Given the description of an element on the screen output the (x, y) to click on. 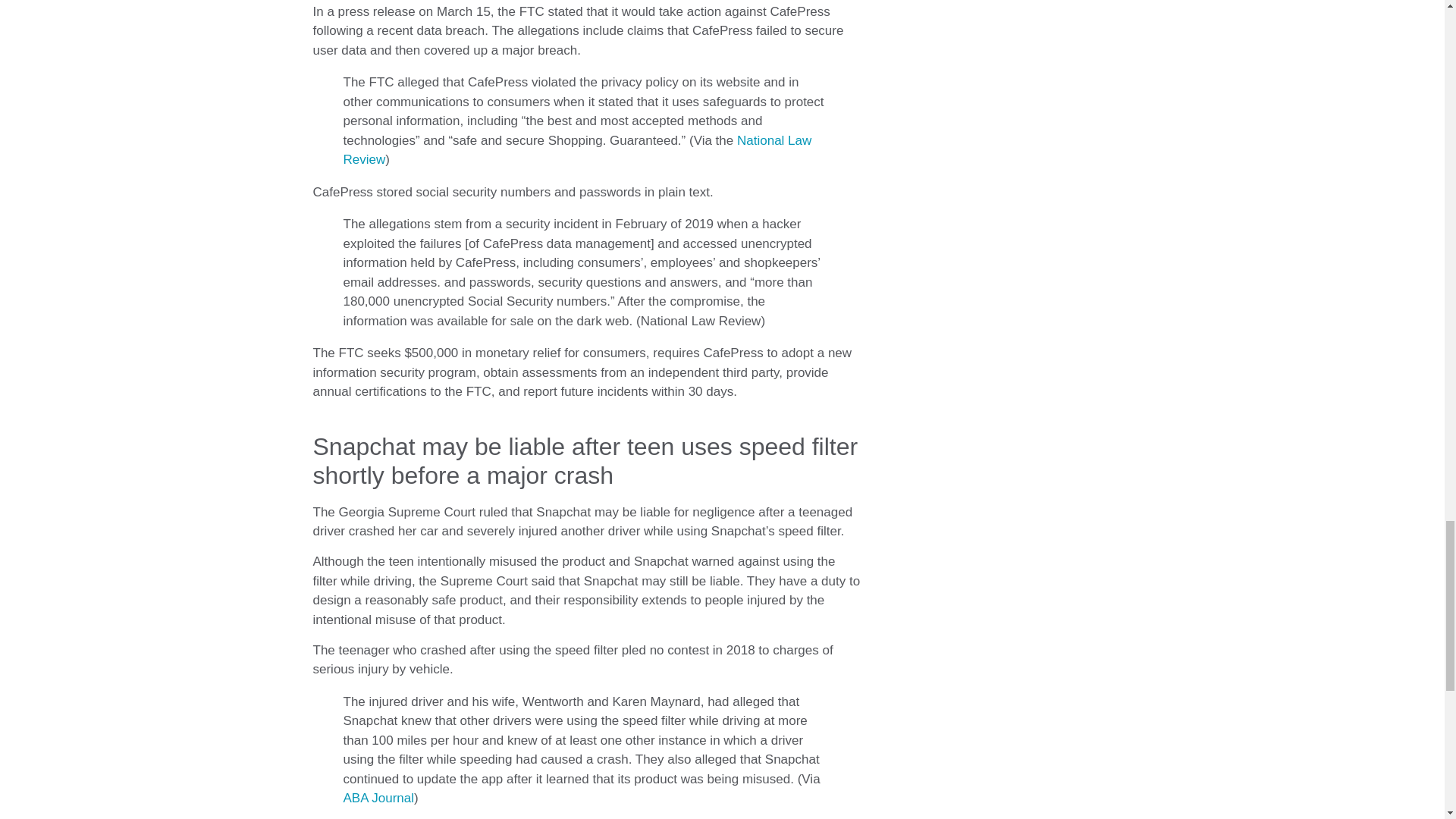
ABA Journal (377, 798)
National Law Review (576, 150)
